Given the description of an element on the screen output the (x, y) to click on. 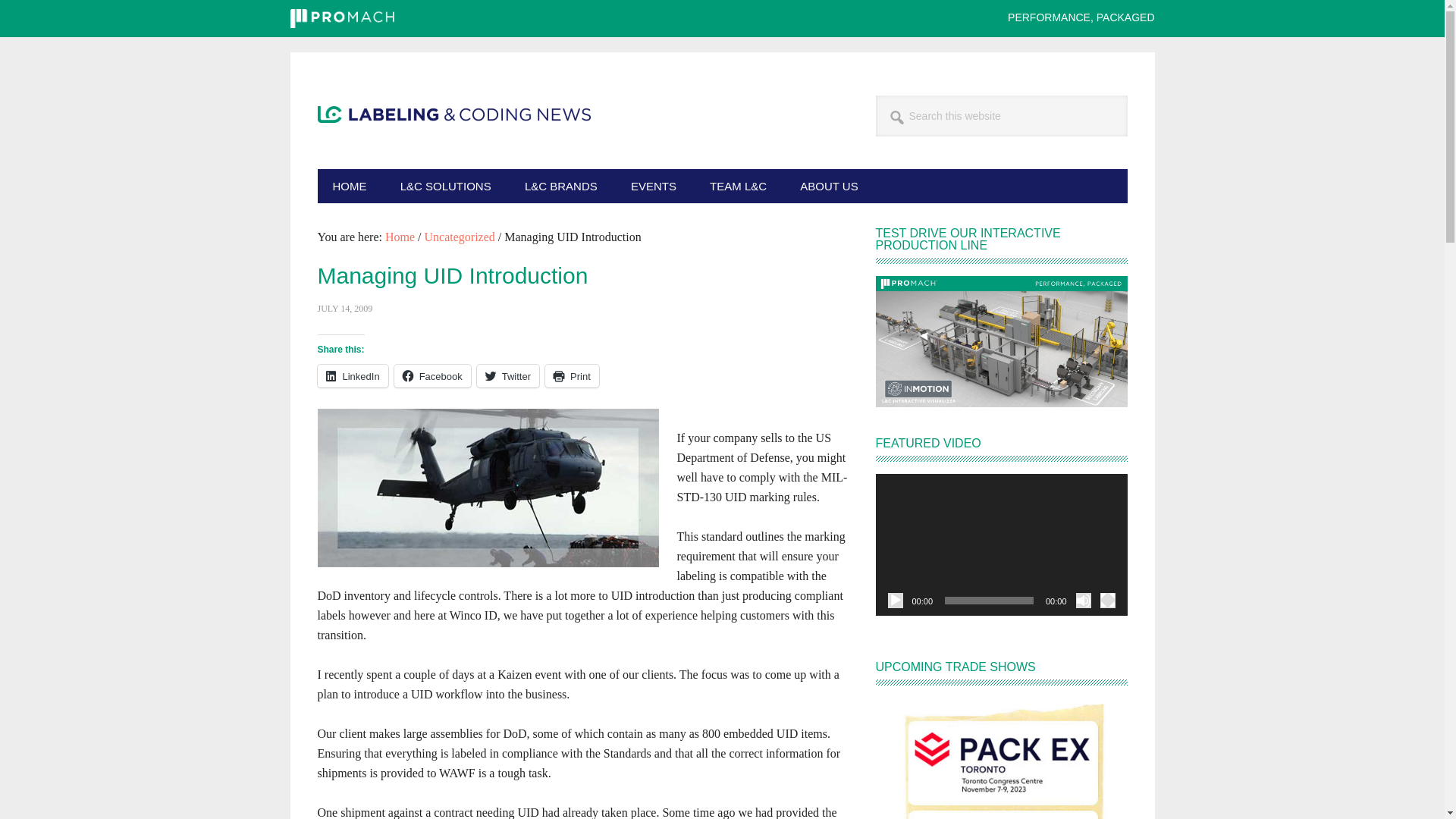
Play (894, 600)
EVENTS (653, 185)
Click to share on LinkedIn (352, 374)
Twitter (507, 374)
ABOUT US (828, 185)
Click to share on Twitter (507, 374)
Home (399, 236)
Fullscreen (1107, 600)
